Given the description of an element on the screen output the (x, y) to click on. 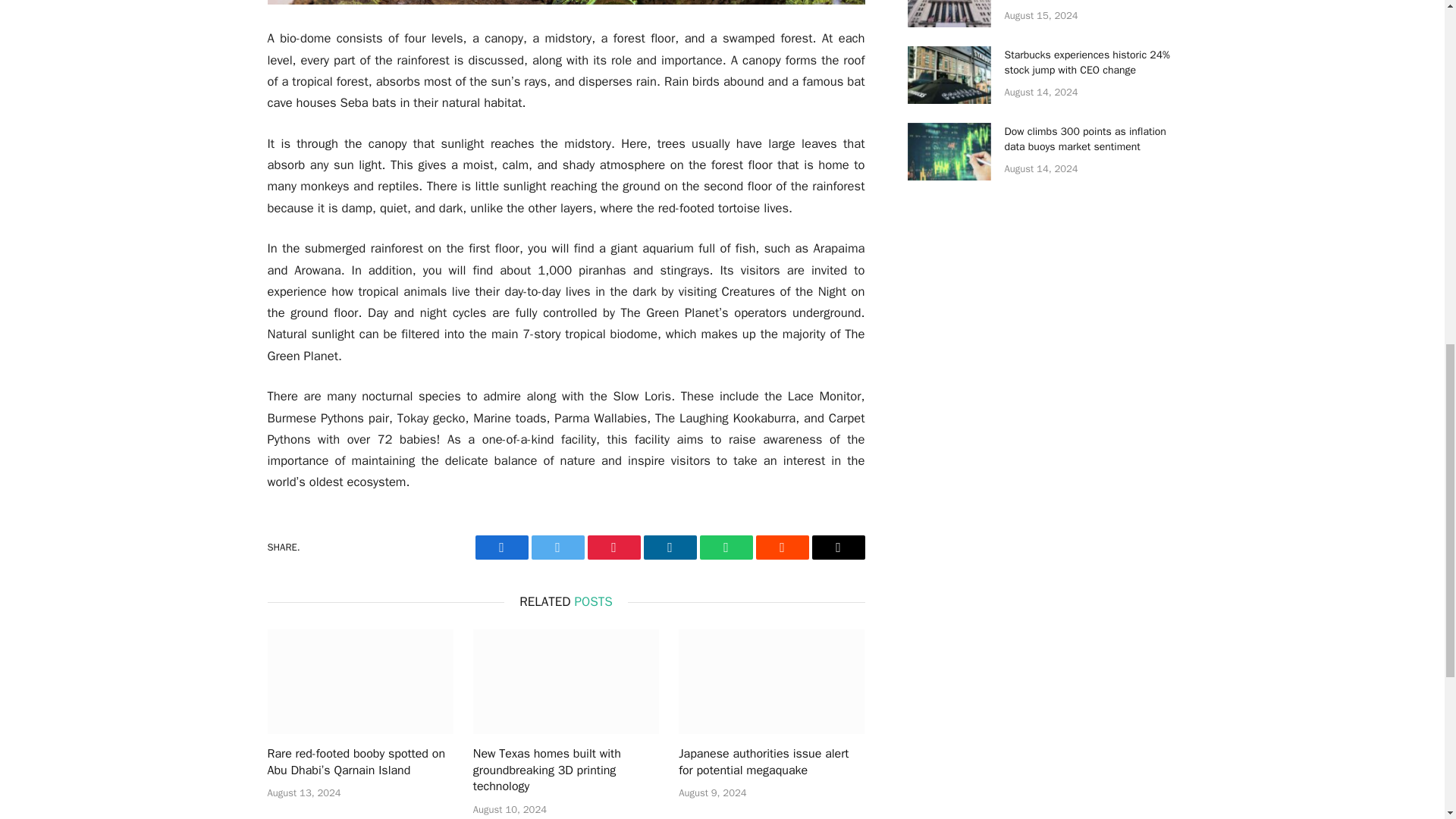
Facebook (500, 547)
Share on Facebook (500, 547)
Twitter (557, 547)
